Given the description of an element on the screen output the (x, y) to click on. 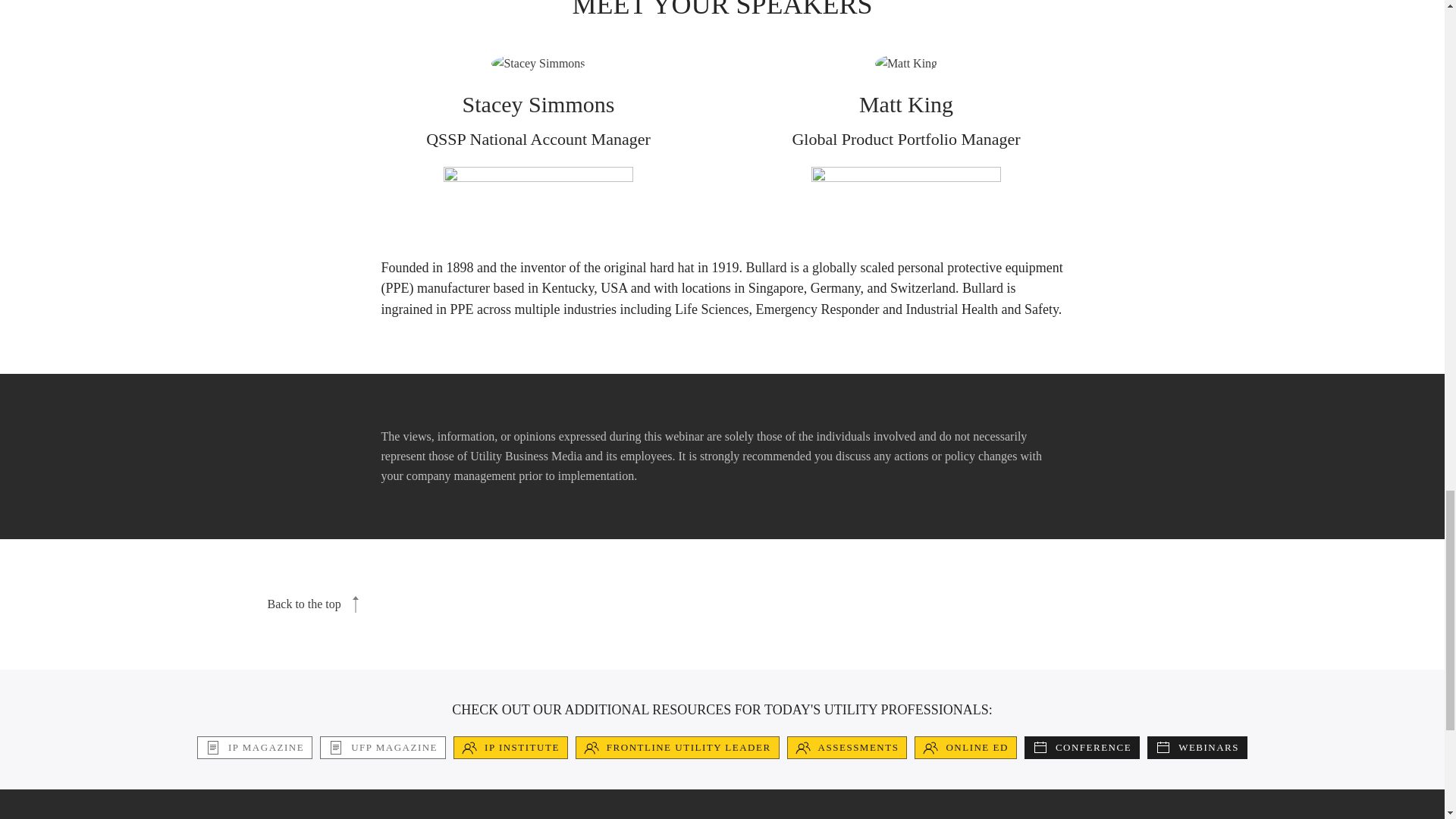
iP Institute (509, 747)
Frontline Utility Leadership Education (676, 747)
iPi Online Education (965, 747)
Assess My Team (847, 747)
Utility Fleet Professional Magazine (382, 747)
Frontline Microlearning Webinars (1197, 747)
Incident Prevention Magazine (254, 747)
